Given the description of an element on the screen output the (x, y) to click on. 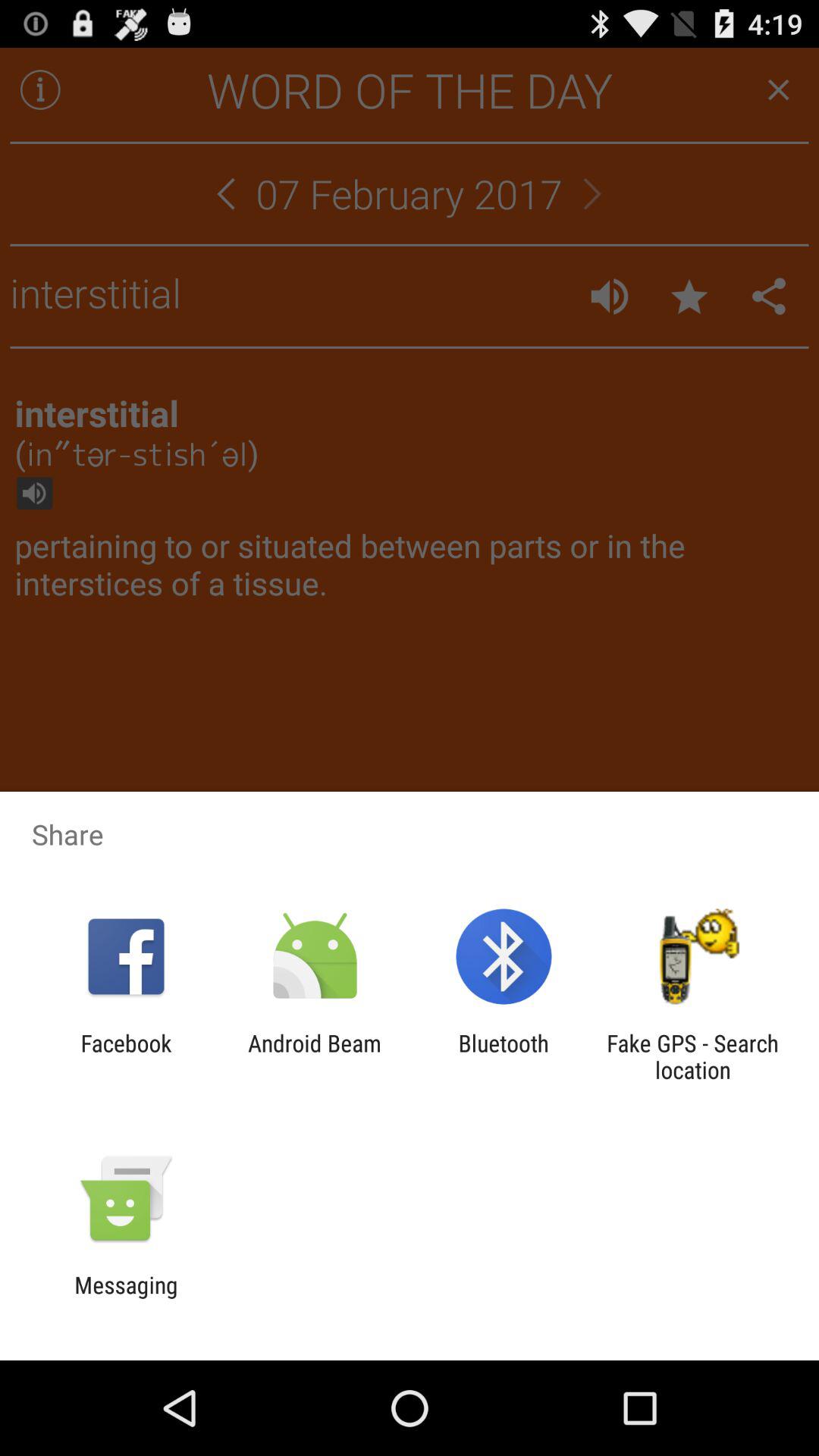
turn off fake gps search icon (692, 1056)
